Given the description of an element on the screen output the (x, y) to click on. 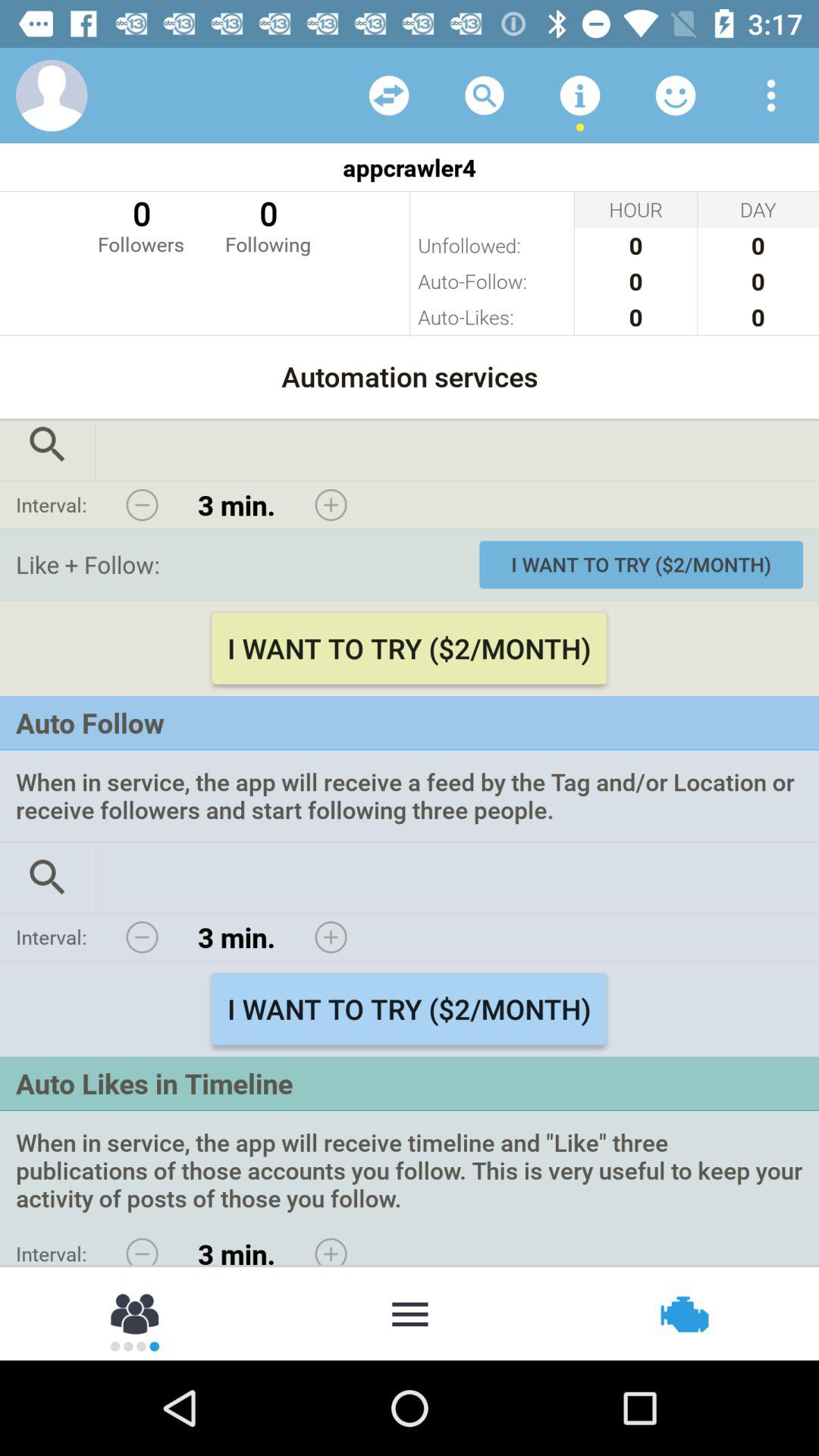
press the icon at the bottom right corner (683, 1312)
